Given the description of an element on the screen output the (x, y) to click on. 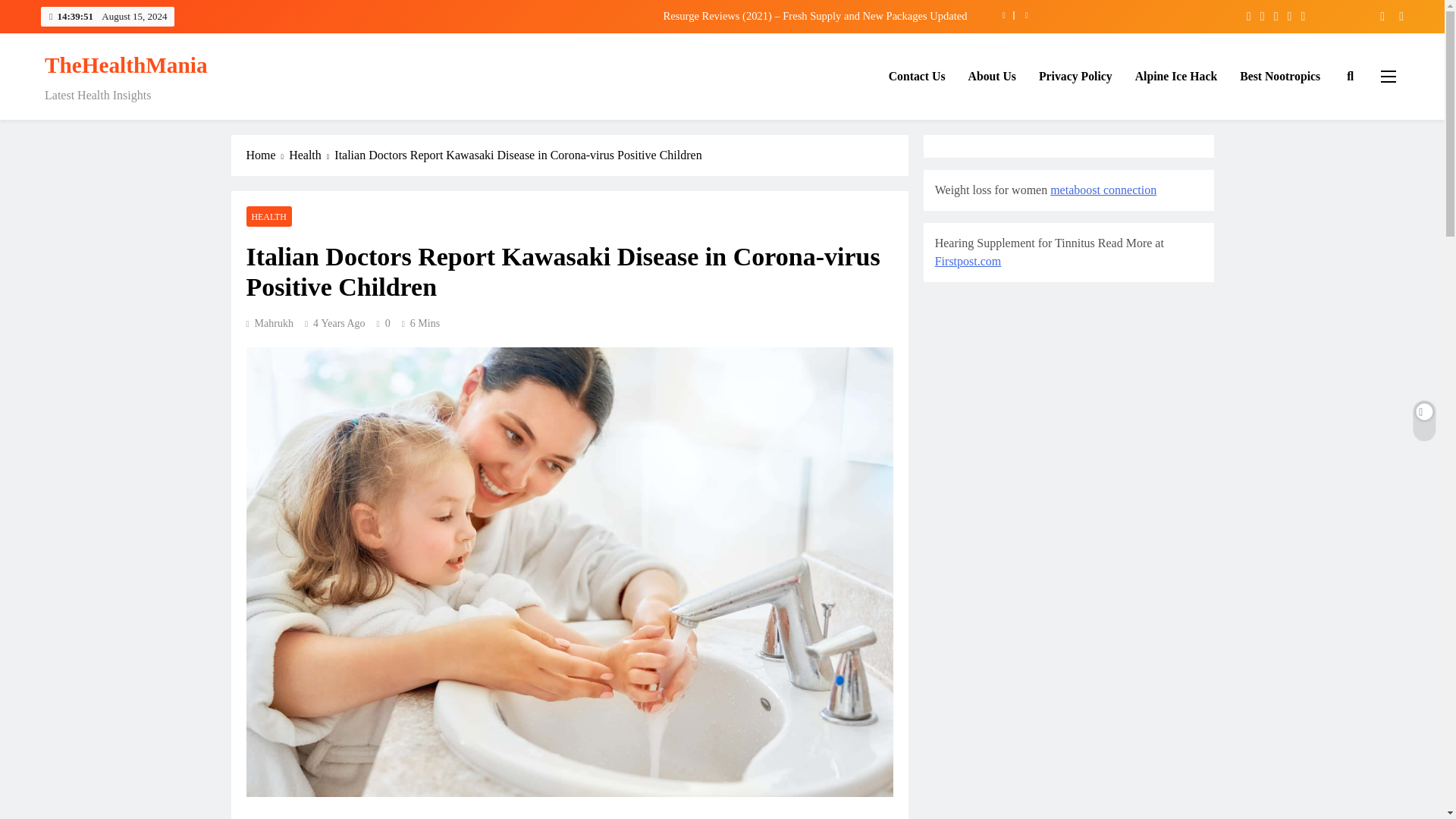
Health (311, 155)
Contact Us (916, 76)
Privacy Policy (1075, 76)
Home (267, 155)
About Us (991, 76)
Mahrukh (269, 323)
Alpine Ice Hack (1176, 76)
Best Nootropics (1280, 76)
HEALTH (268, 216)
TheHealthMania (126, 64)
